Given the description of an element on the screen output the (x, y) to click on. 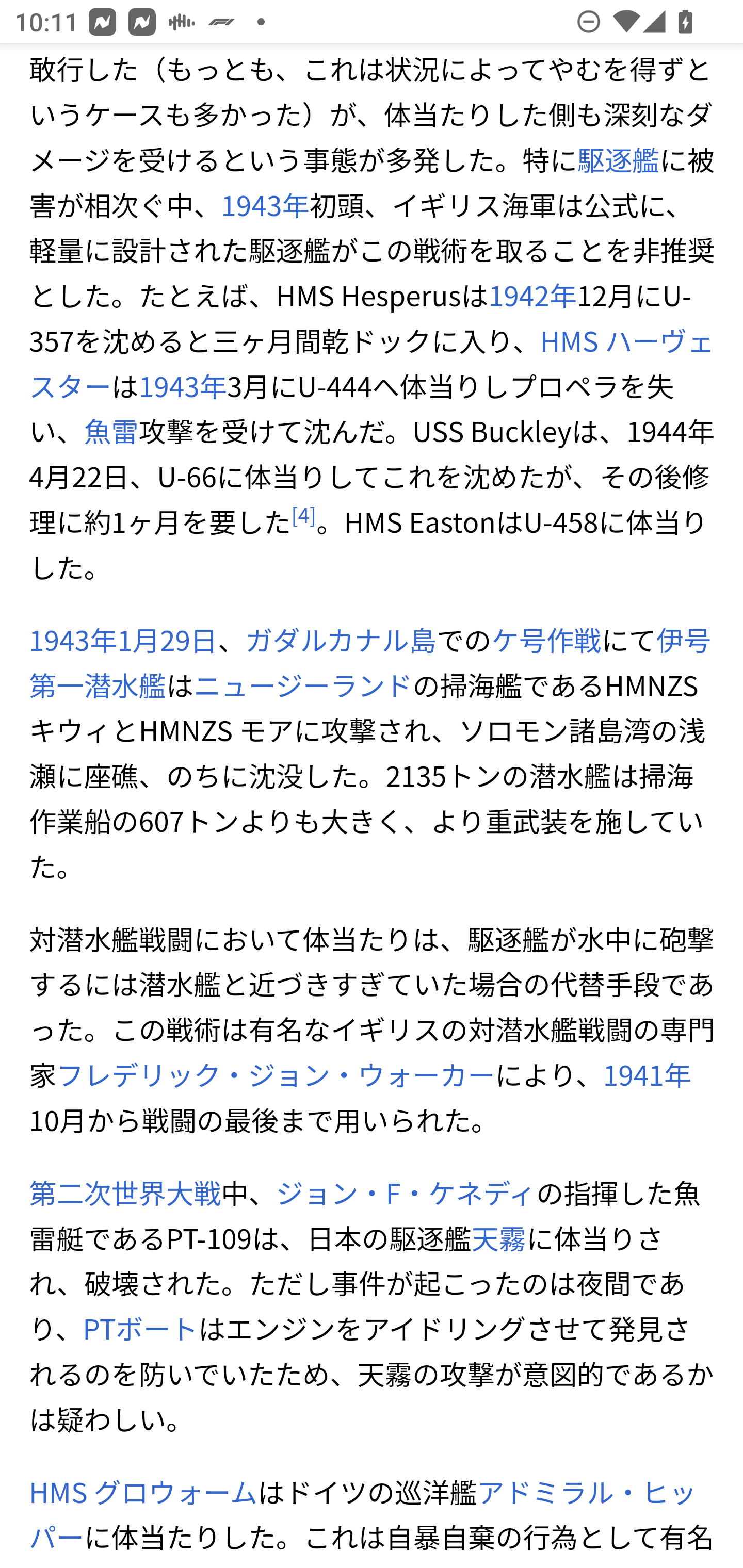
駆逐艦 (618, 158)
1943年 (265, 204)
1942年 (532, 296)
HMS ハーヴェスター (371, 363)
1943年 (182, 386)
魚雷 (110, 431)
[] [ 4 ] (304, 515)
1943年 (73, 639)
伊号第一潜水艦 (370, 662)
1月29日 (166, 639)
ガダルカナル島 (340, 639)
ケ号作戦 (547, 639)
ニュージーランド (303, 684)
フレデリック・ジョン・ウォーカー (275, 1074)
1941年 (646, 1074)
第二次世界大戦 (125, 1193)
ジョン・F・ケネディ (405, 1193)
天霧 (498, 1238)
PTボート (139, 1329)
HMS グロウォーム (142, 1491)
アドミラル・ヒッパー (363, 1513)
